Given the description of an element on the screen output the (x, y) to click on. 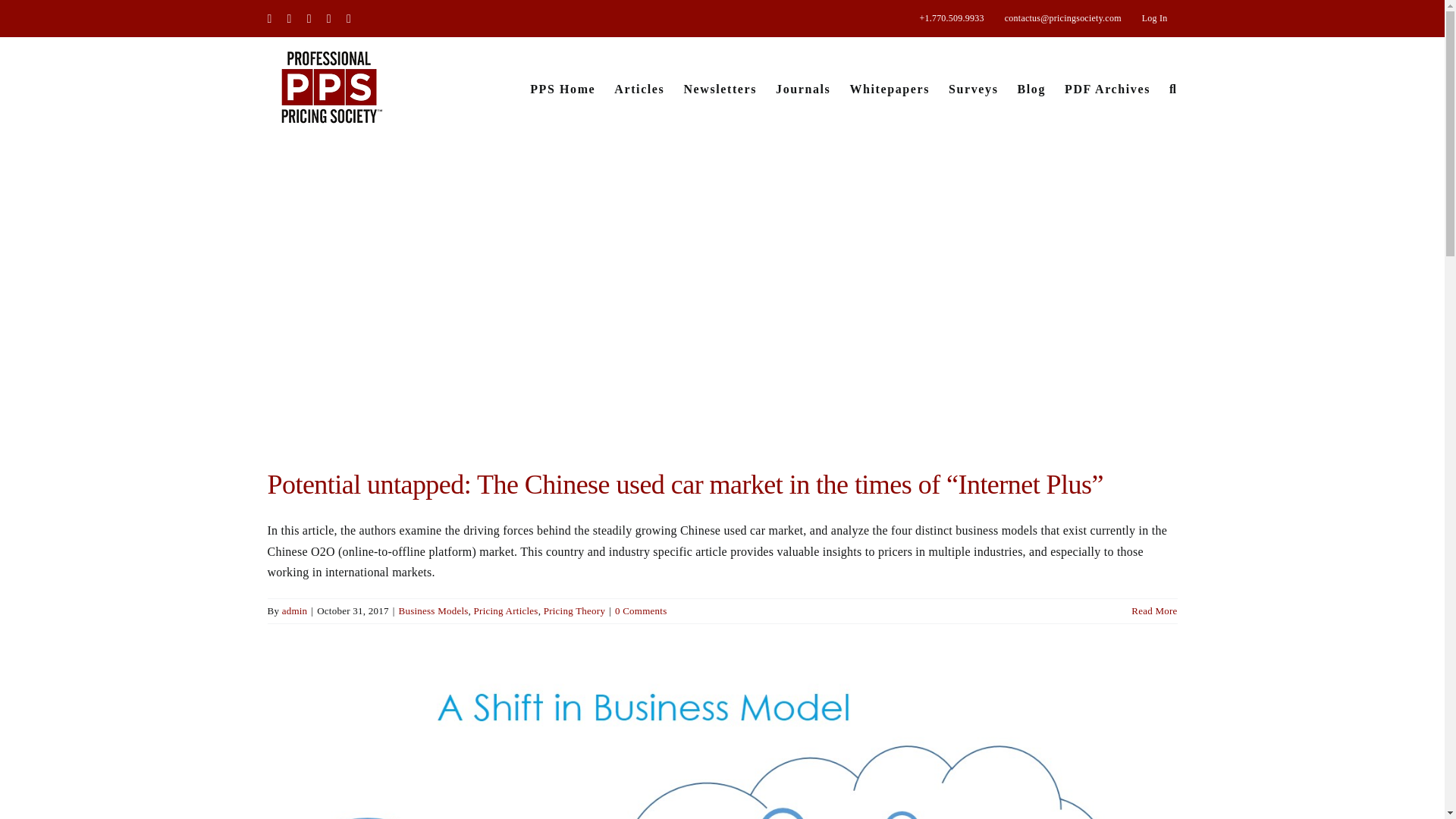
Posts by admin (294, 610)
Log In (1154, 18)
